Given the description of an element on the screen output the (x, y) to click on. 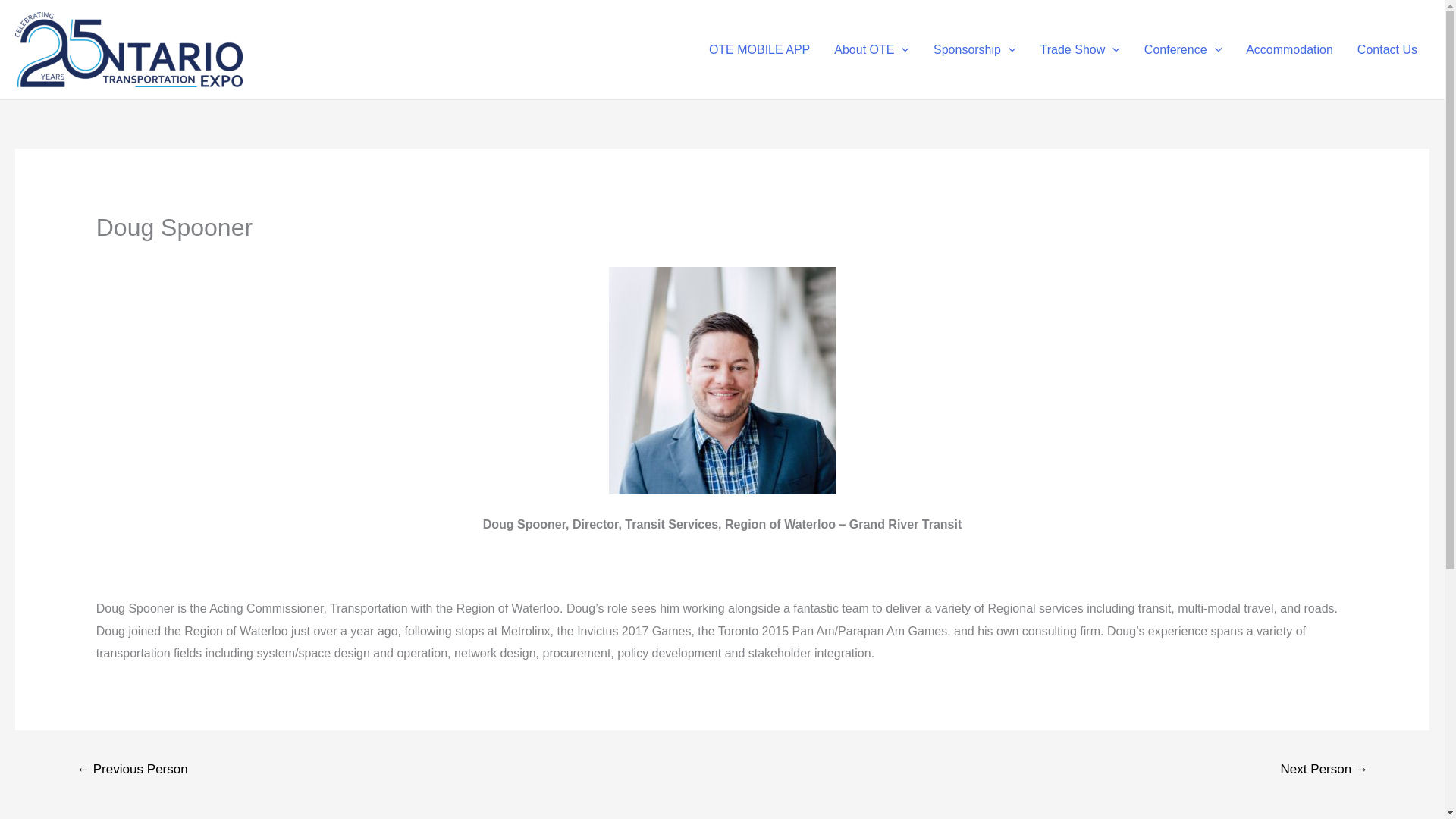
Sponsorship (974, 49)
About OTE (871, 49)
Trade Show (1079, 49)
Contact Us (1387, 49)
OTE MOBILE APP (759, 49)
Conference (1182, 49)
Accommodation (1289, 49)
